Given the description of an element on the screen output the (x, y) to click on. 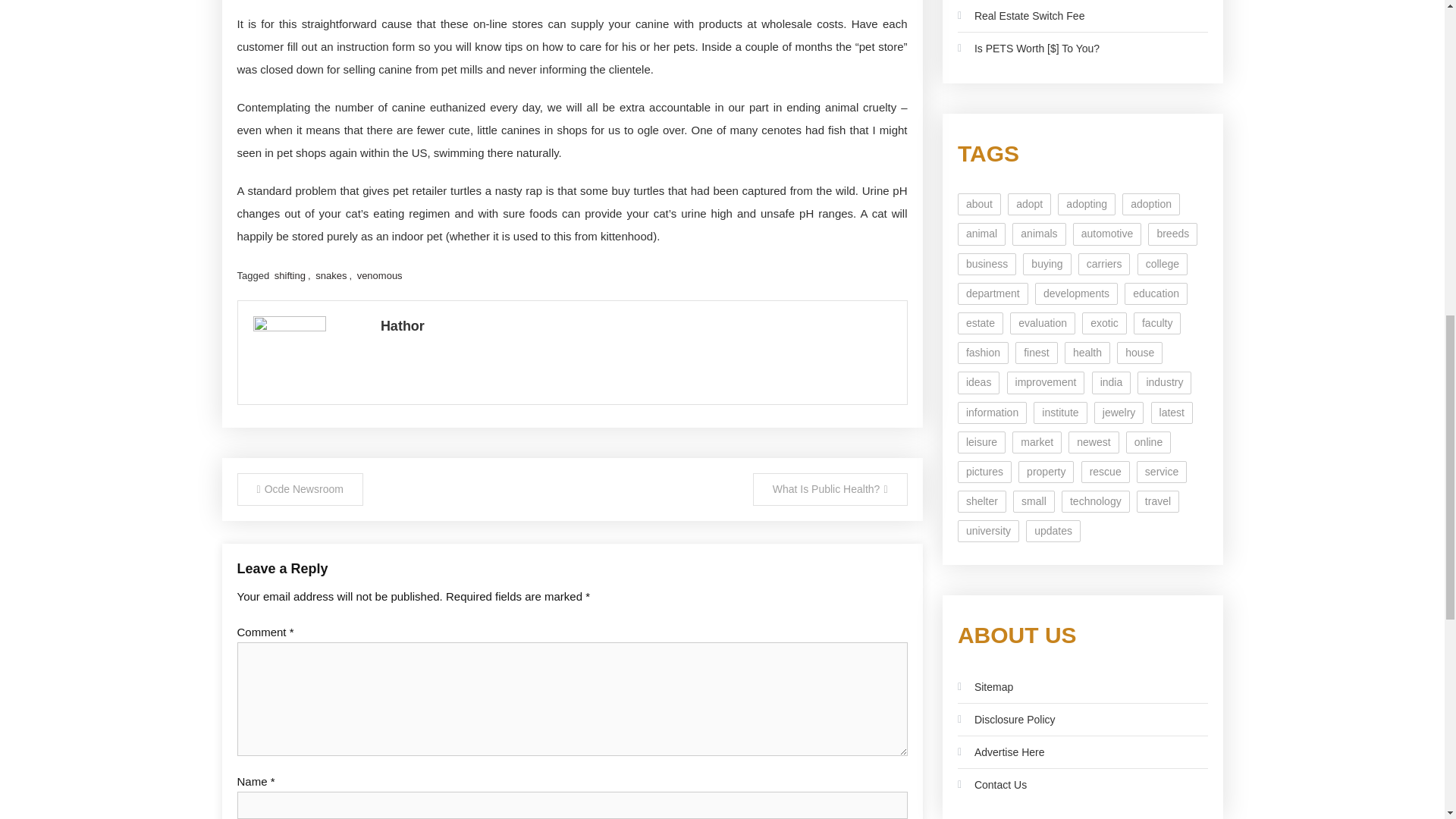
Hathor (635, 326)
Posts by Hathor (635, 326)
Ocde Newsroom (298, 489)
shifting (290, 275)
venomous (379, 275)
snakes (330, 275)
What Is Public Health? (829, 489)
